Given the description of an element on the screen output the (x, y) to click on. 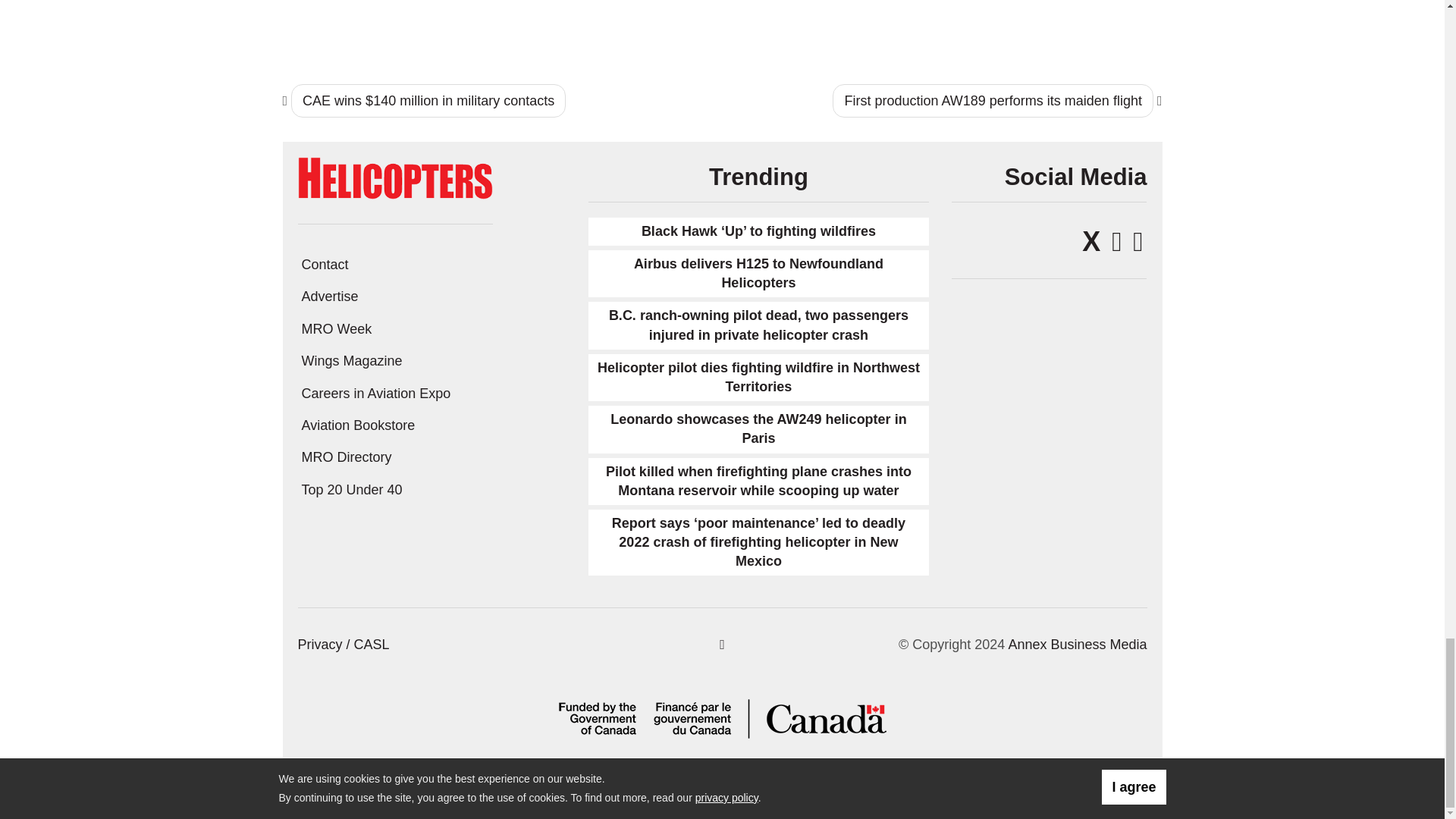
Annex Business Media (1077, 644)
Helicopters Magazine (395, 177)
